Given the description of an element on the screen output the (x, y) to click on. 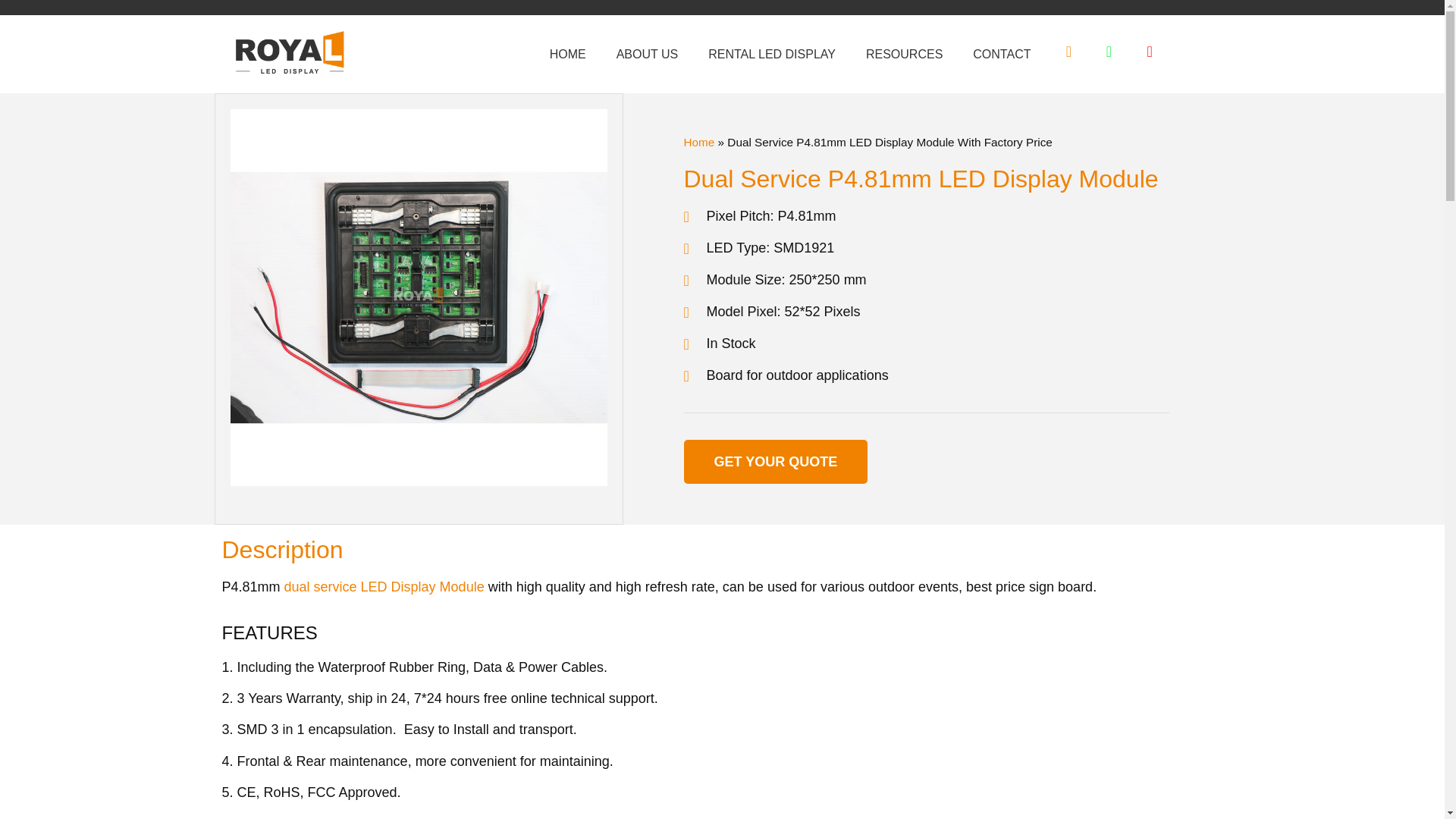
RESOURCES (904, 54)
CONTACT (1001, 54)
HOME (567, 54)
ABOUT US (647, 54)
RENTAL LED DISPLAY (771, 54)
